Given the description of an element on the screen output the (x, y) to click on. 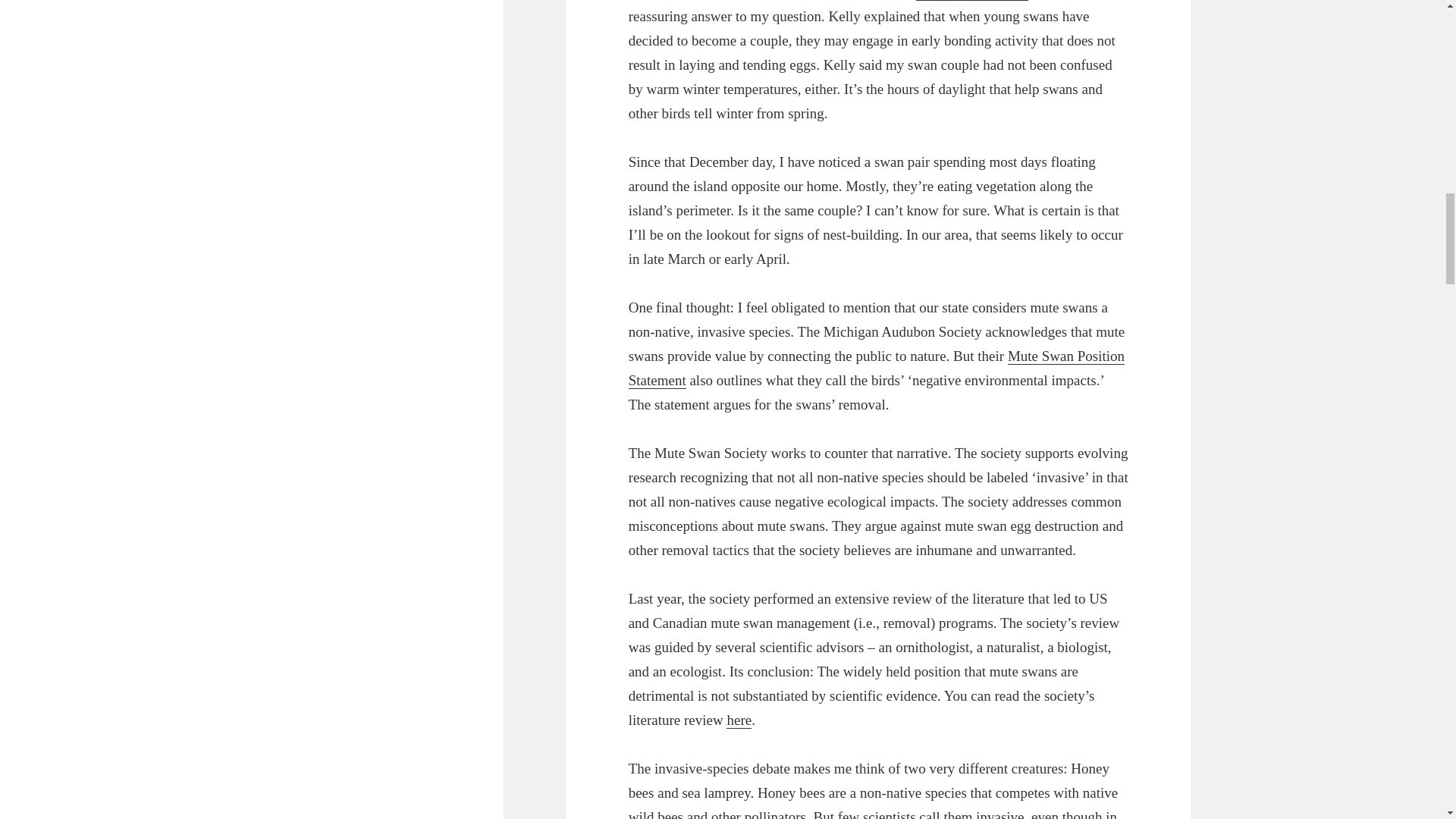
here (738, 719)
Mute Swan Position Statement (876, 368)
